Given the description of an element on the screen output the (x, y) to click on. 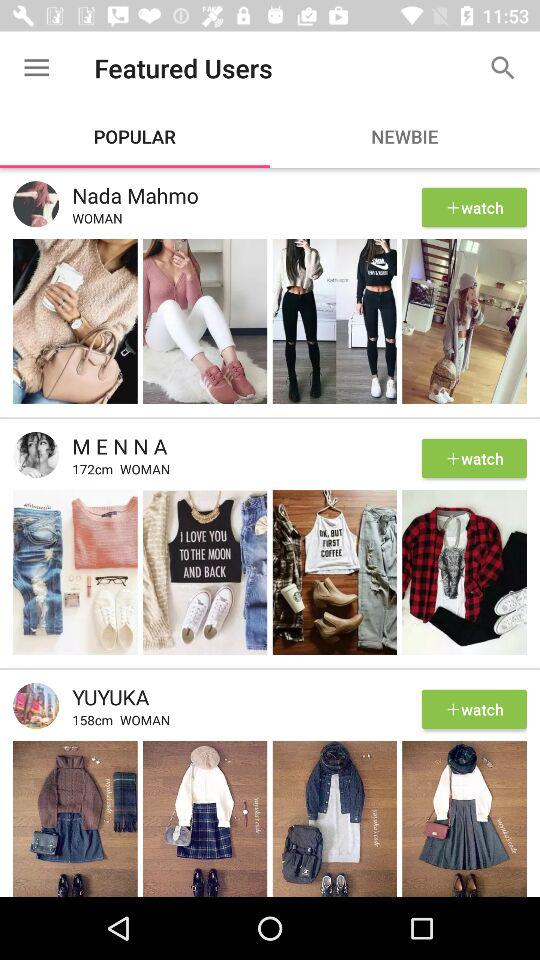
choose the icon next to the featured users icon (503, 67)
